Given the description of an element on the screen output the (x, y) to click on. 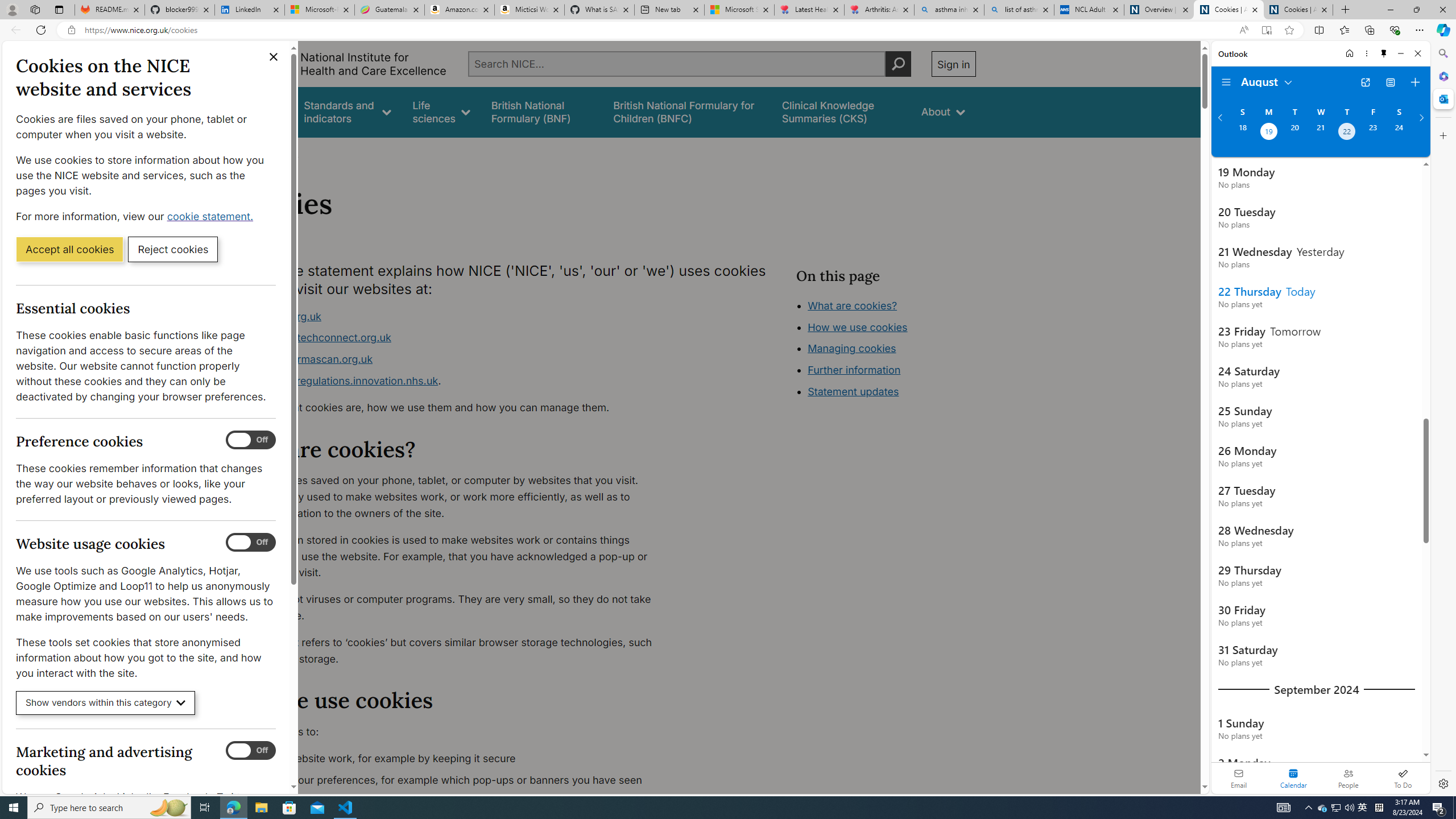
Life sciences (440, 111)
Add this page to favorites (Ctrl+D) (1289, 29)
Microsoft 365 (1442, 76)
App bar (728, 29)
asthma inhaler - Search (949, 9)
LinkedIn (249, 9)
www.healthtechconnect.org.uk (452, 338)
Close tab (1324, 9)
www.digitalregulations.innovation.nhs.uk (338, 380)
Browser essentials (1394, 29)
Folder navigation (1225, 82)
Split screen (1318, 29)
